Given the description of an element on the screen output the (x, y) to click on. 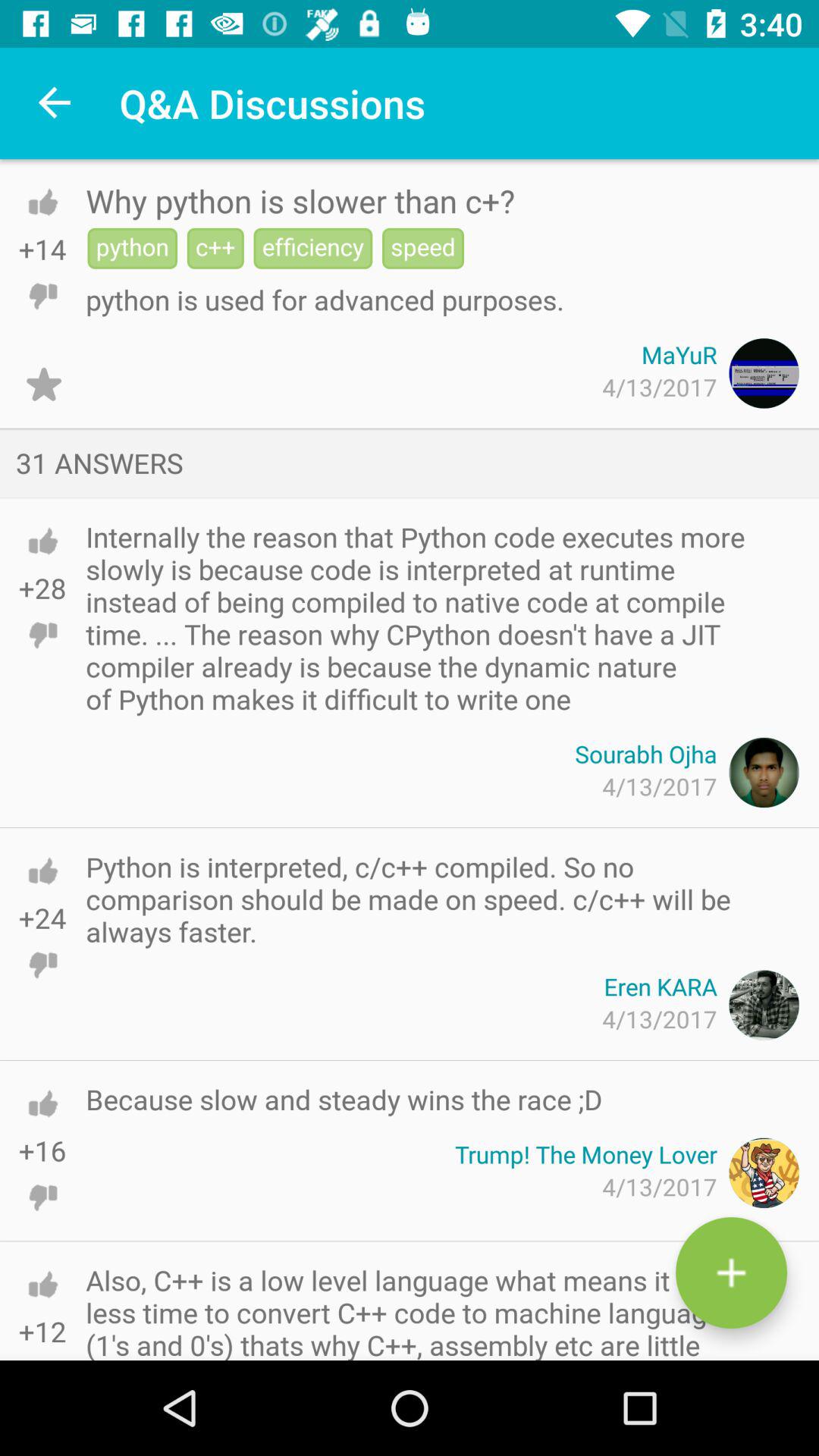
set as favorite (43, 384)
